Given the description of an element on the screen output the (x, y) to click on. 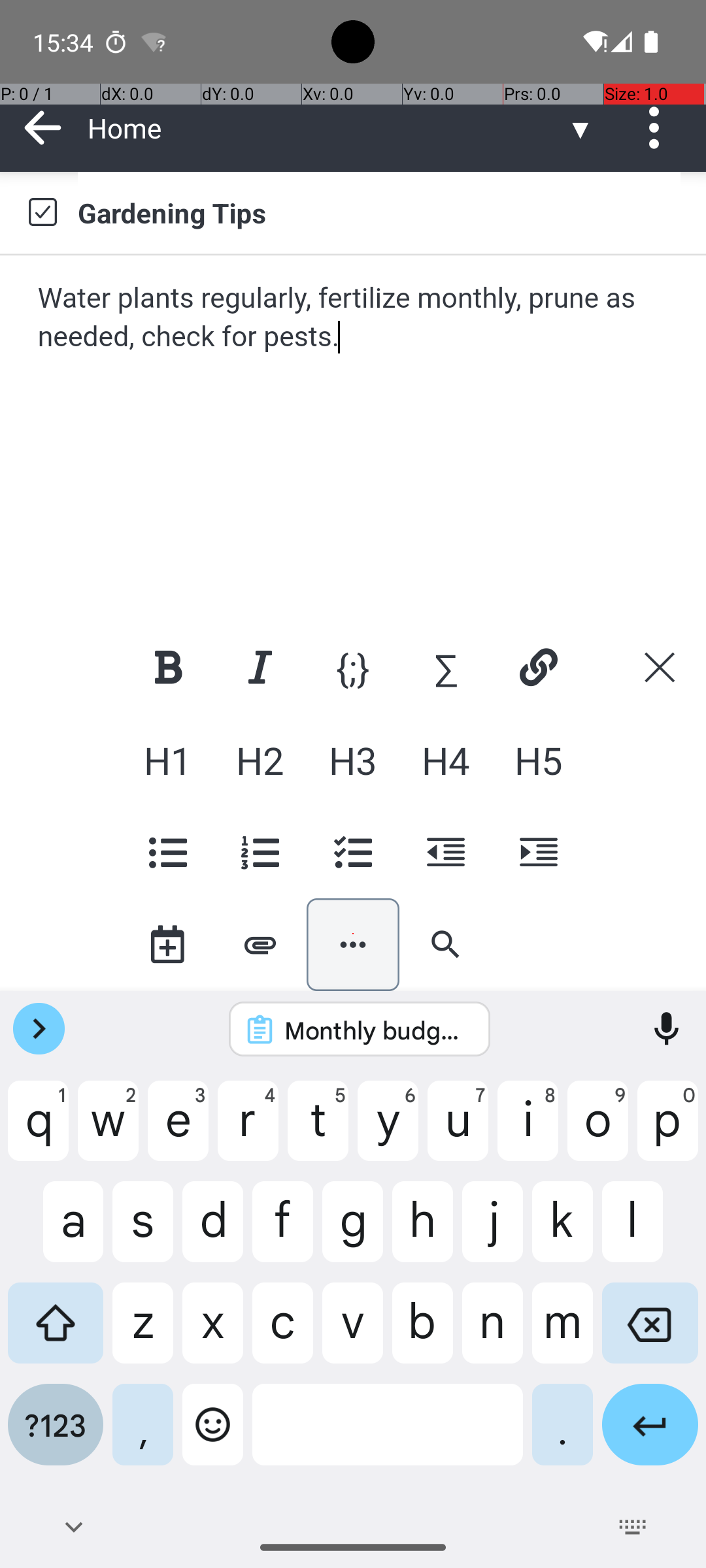
KaTeX Element type: android.widget.Button (445, 666)
Header 1 Element type: android.widget.Button (167, 759)
Header 2 Element type: android.widget.Button (259, 759)
Header 3 Element type: android.widget.Button (352, 759)
Header 4 Element type: android.widget.Button (445, 759)
Header 5 Element type: android.widget.Button (538, 759)
Decrease indent level Element type: android.widget.Button (445, 852)
Increase indent level Element type: android.widget.Button (538, 852)
Insert time Element type: android.widget.Button (167, 944)
Hide more actions Element type: android.widget.Button (352, 944)
Water plants regularly, fertilize monthly, prune as needed, check for pests. Element type: android.widget.EditText (354, 317)
Monthly budget meeting pushed to Friday. Element type: android.widget.TextView (376, 1029)
